Given the description of an element on the screen output the (x, y) to click on. 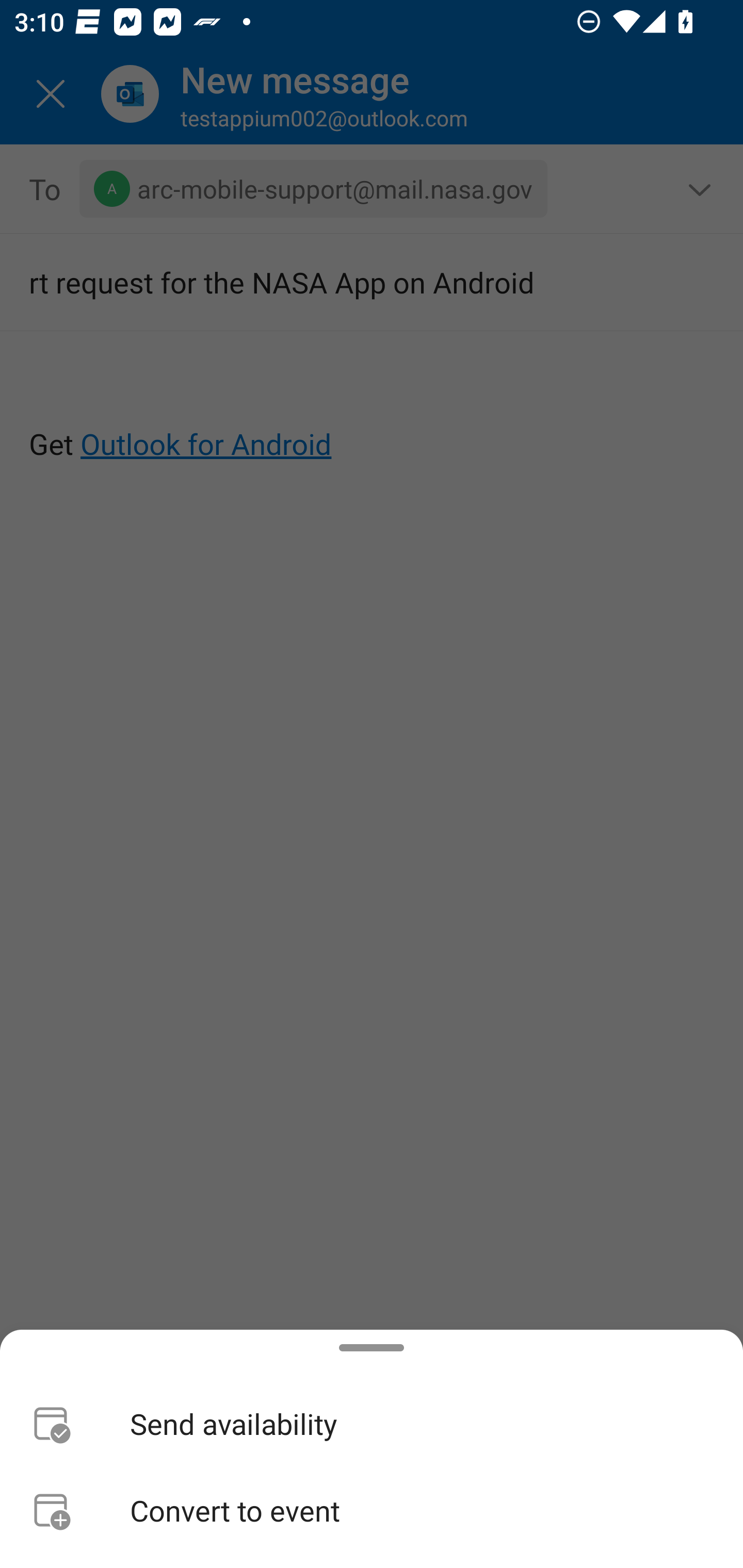
Send availability (371, 1423)
Convert to event (371, 1510)
